Given the description of an element on the screen output the (x, y) to click on. 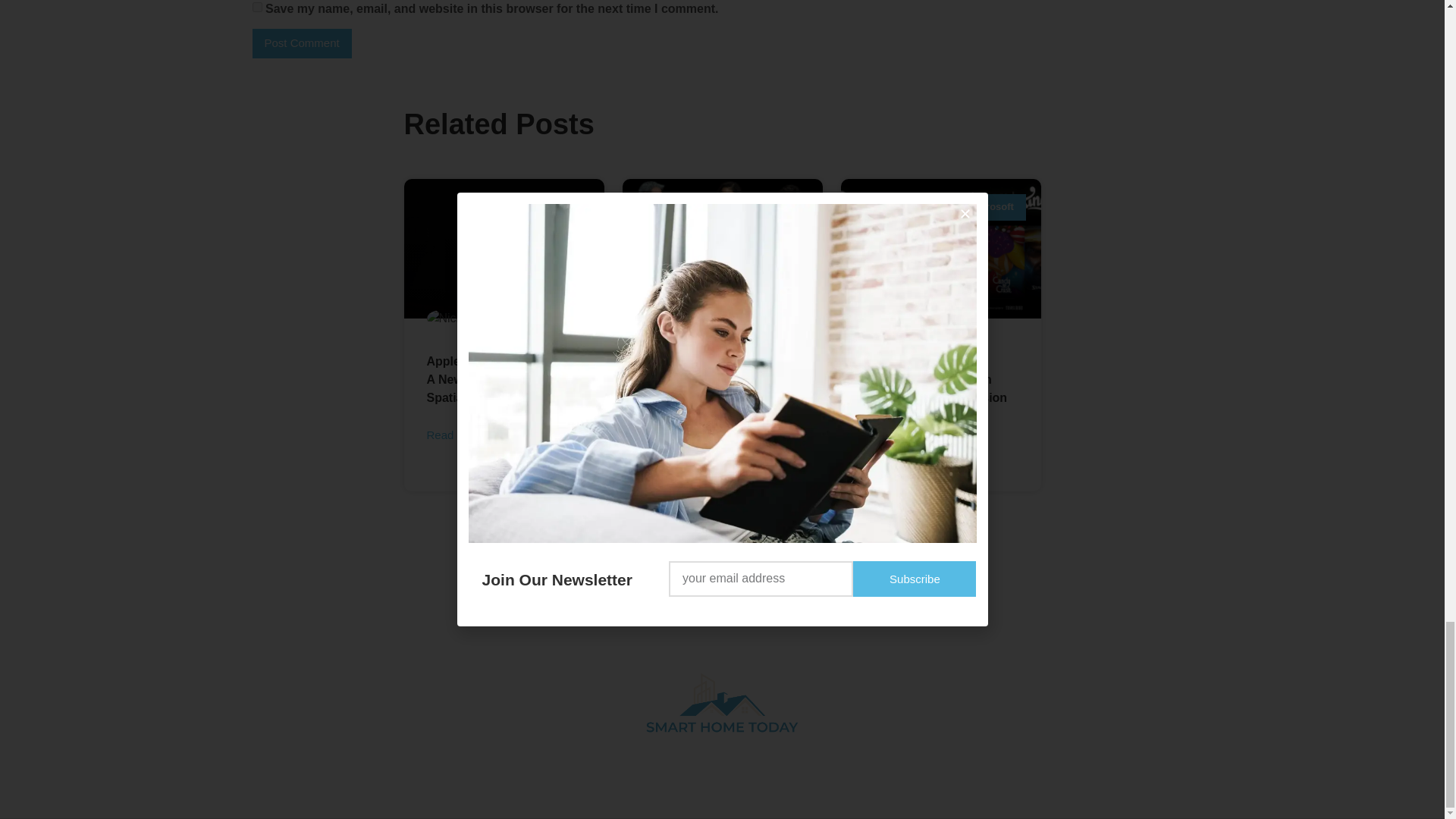
Post Comment (300, 43)
yes (256, 7)
Post Comment (300, 43)
